Given the description of an element on the screen output the (x, y) to click on. 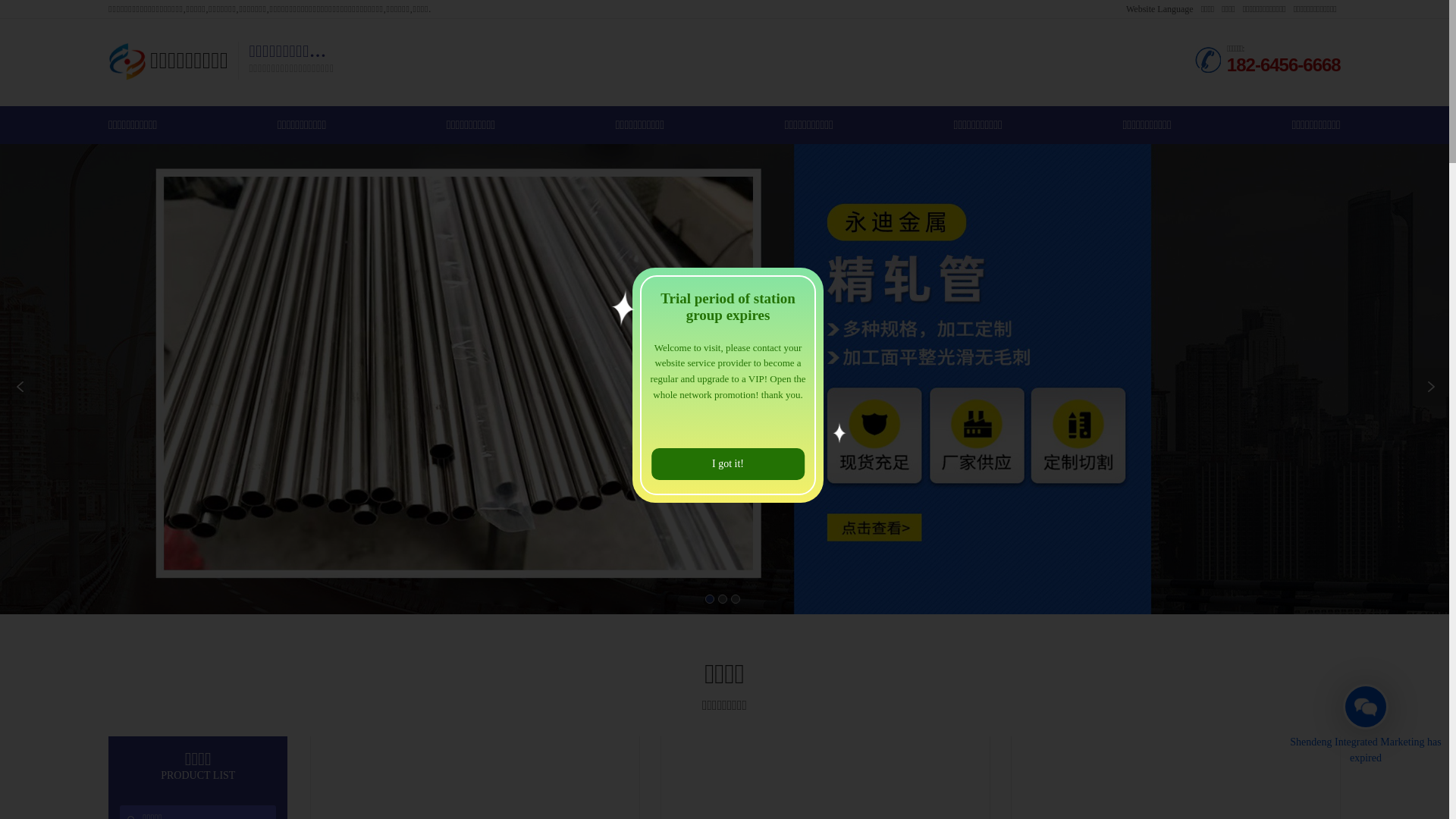
I got it! Element type: text (727, 464)
